Given the description of an element on the screen output the (x, y) to click on. 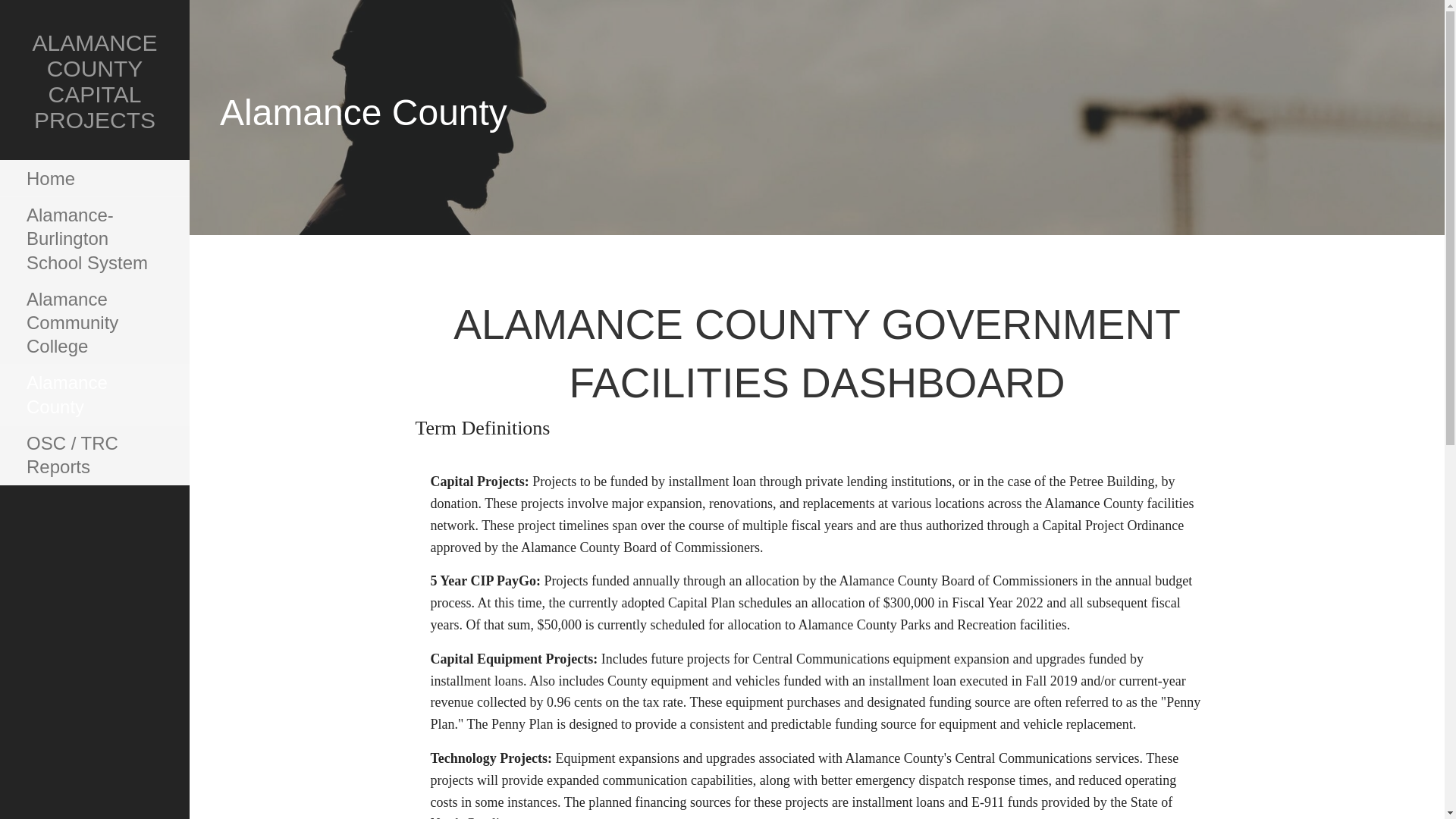
Alamance-Burlington School System (94, 239)
Home (94, 178)
ALAMANCE COUNTY CAPITAL PROJECTS (94, 81)
Alamance County (94, 394)
Alamance Community College (94, 323)
